Given the description of an element on the screen output the (x, y) to click on. 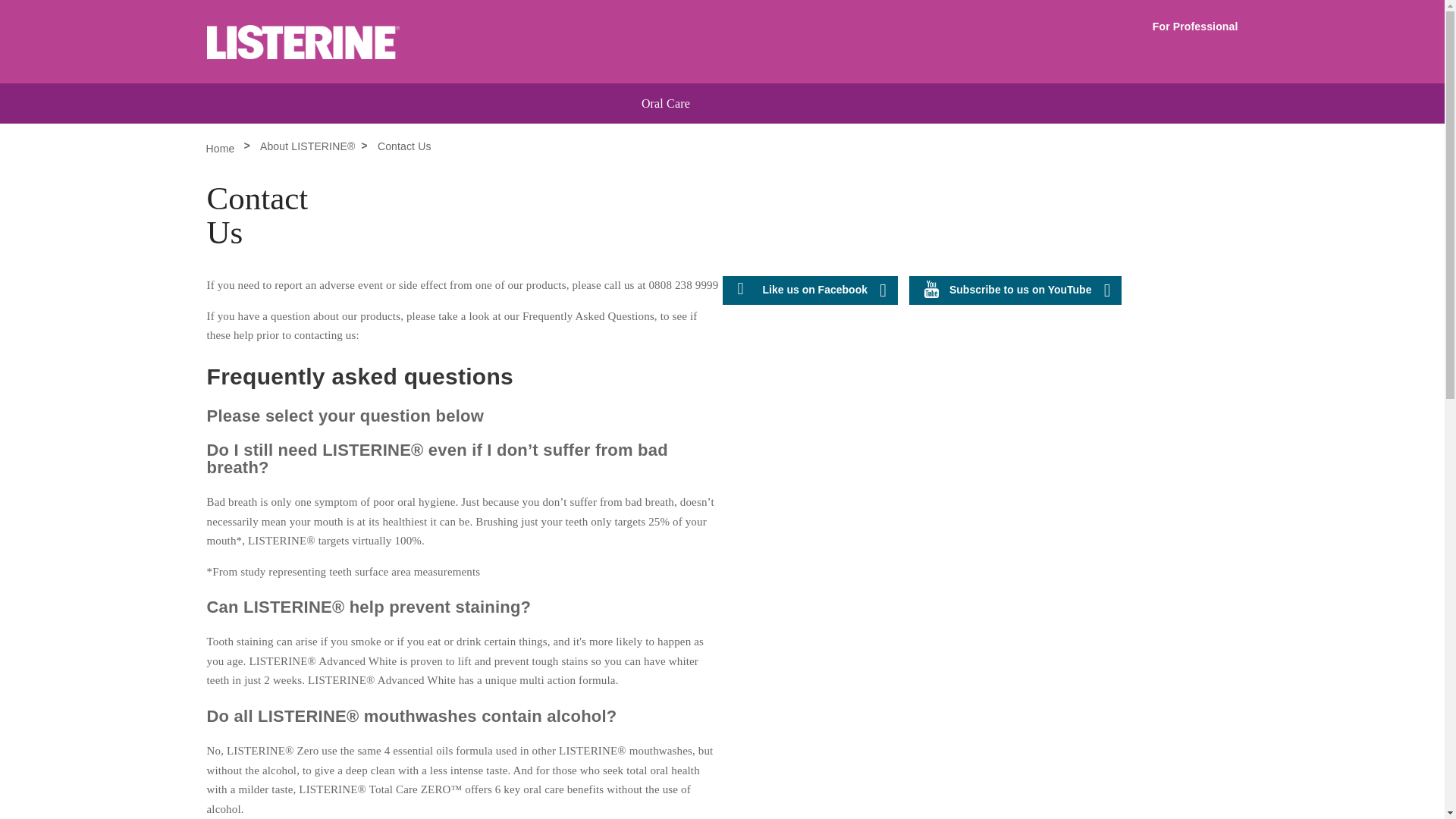
Oral Care (666, 103)
For Professional (1196, 26)
Home (222, 149)
 Like us on Facebook (809, 290)
Subscribe to us on YouTube (1014, 290)
Home (360, 44)
